Given the description of an element on the screen output the (x, y) to click on. 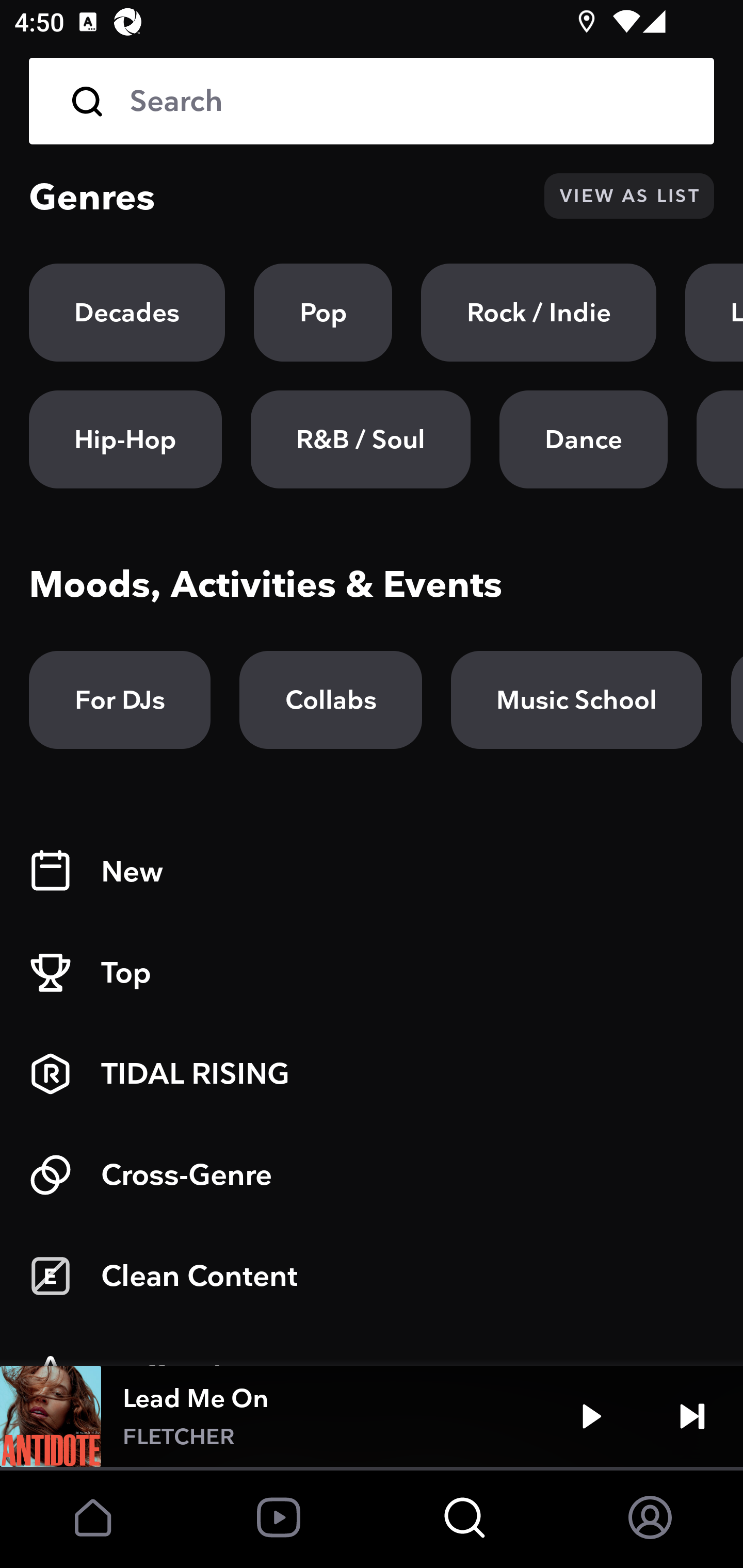
Search (371, 101)
Search (407, 100)
VIEW AS LIST (629, 195)
Decades (126, 312)
Pop (323, 312)
Rock / Indie (538, 312)
Hip-Hop (125, 439)
R&B / Soul (360, 439)
Dance (583, 439)
For DJs (119, 699)
Collabs (330, 699)
Music School (576, 699)
New (371, 871)
Top (371, 972)
TIDAL RISING (371, 1073)
Cross-Genre (371, 1175)
Clean Content (371, 1276)
Lead Me On FLETCHER Play (371, 1416)
Play (590, 1416)
